Given the description of an element on the screen output the (x, y) to click on. 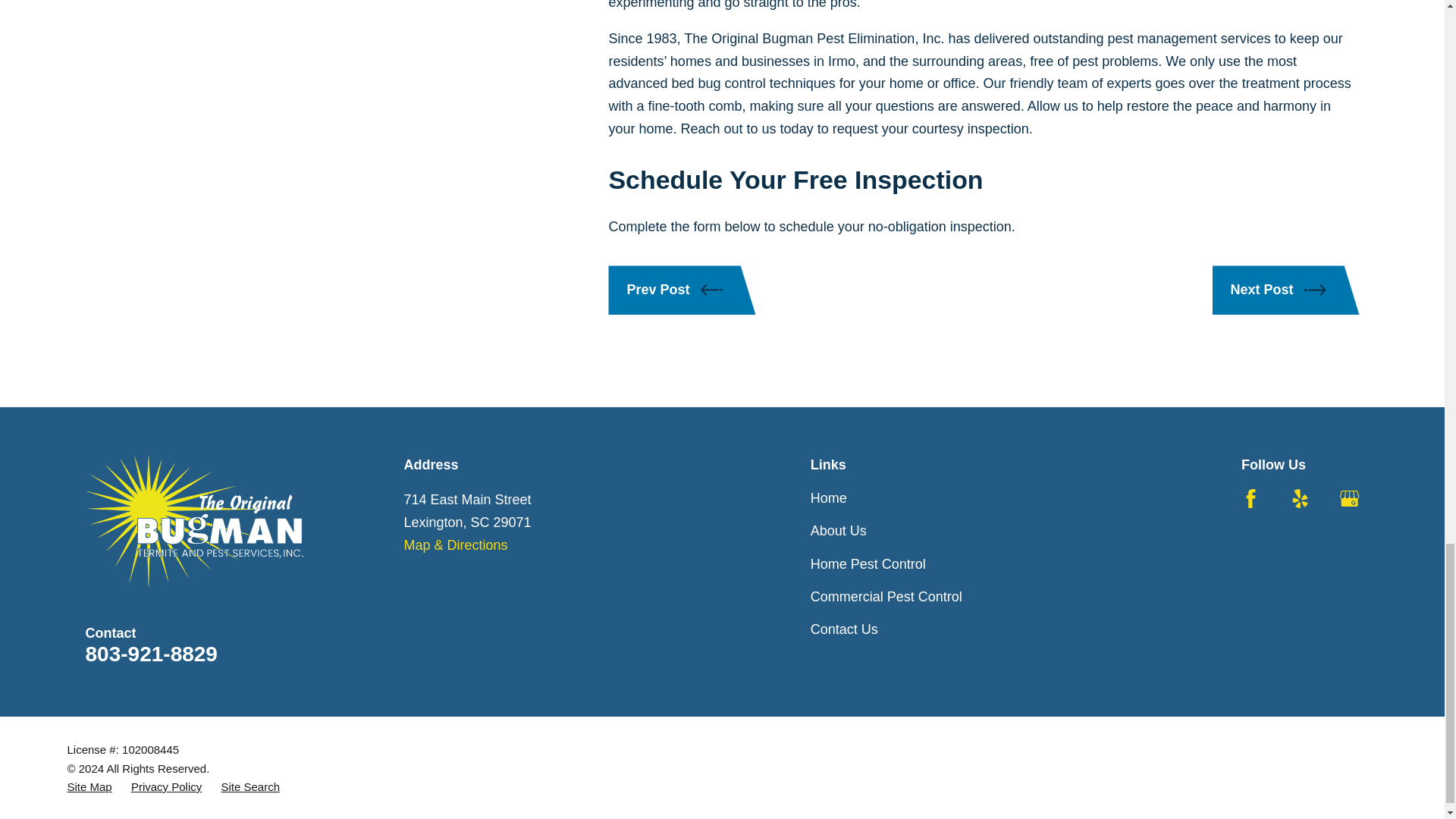
Yelp (1299, 497)
Home (193, 521)
Google Business Profile (1348, 497)
Facebook (1250, 497)
